Given the description of an element on the screen output the (x, y) to click on. 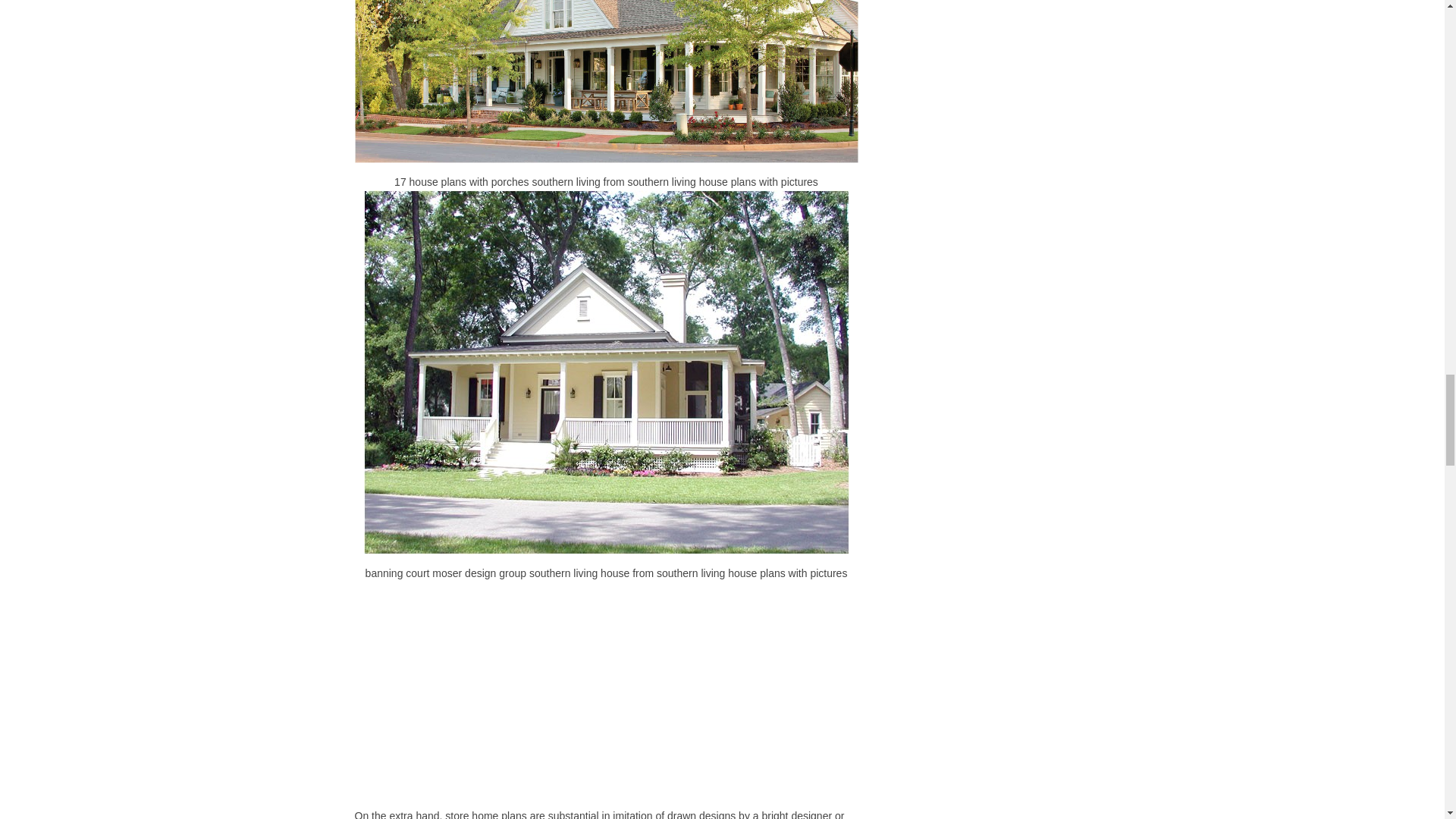
17 house plans with porches southern living (607, 81)
